Given the description of an element on the screen output the (x, y) to click on. 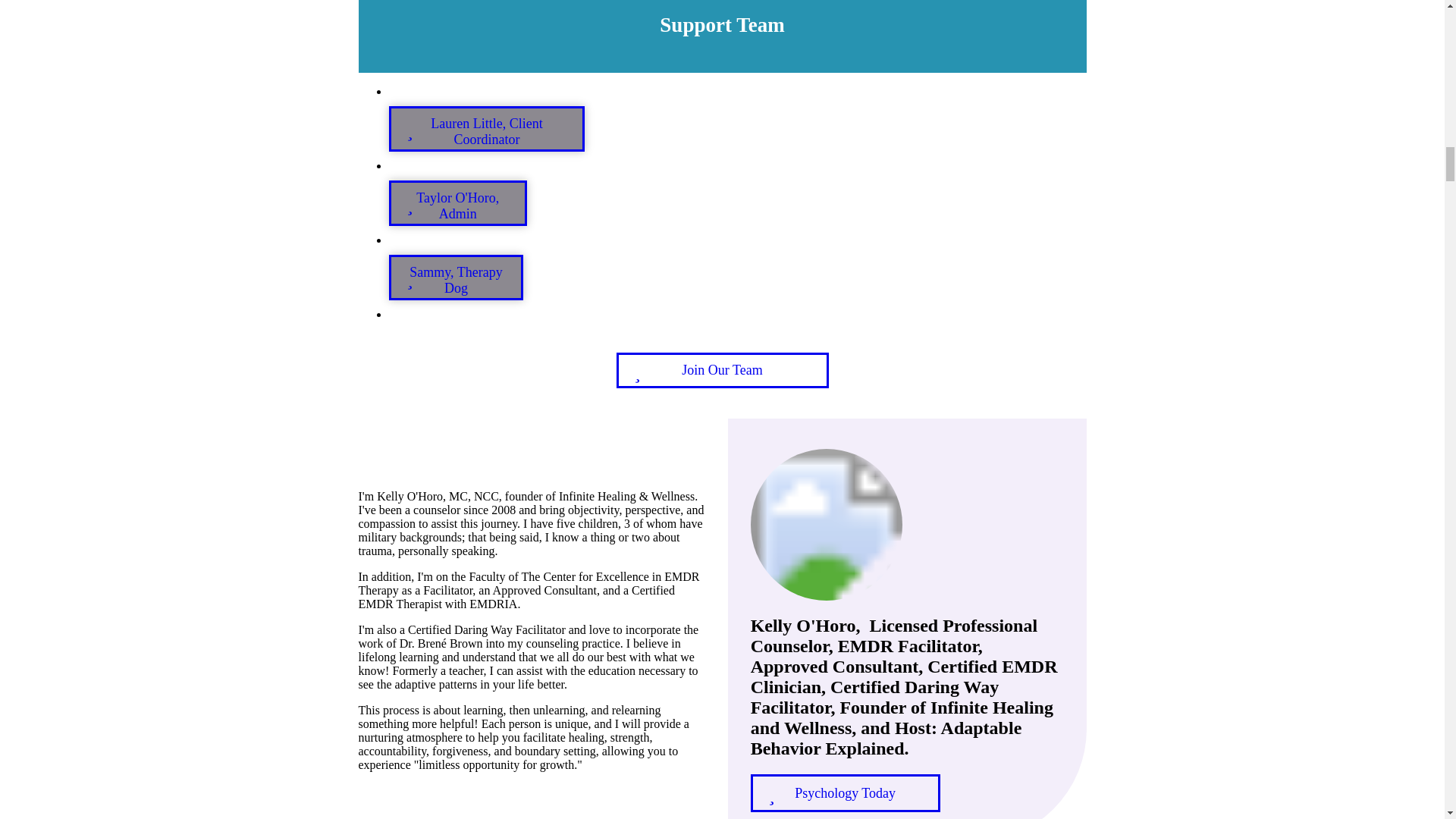
Kelly O'Horo - Phoenix, AZ - Infinite Healing and Wellness (826, 524)
